Given the description of an element on the screen output the (x, y) to click on. 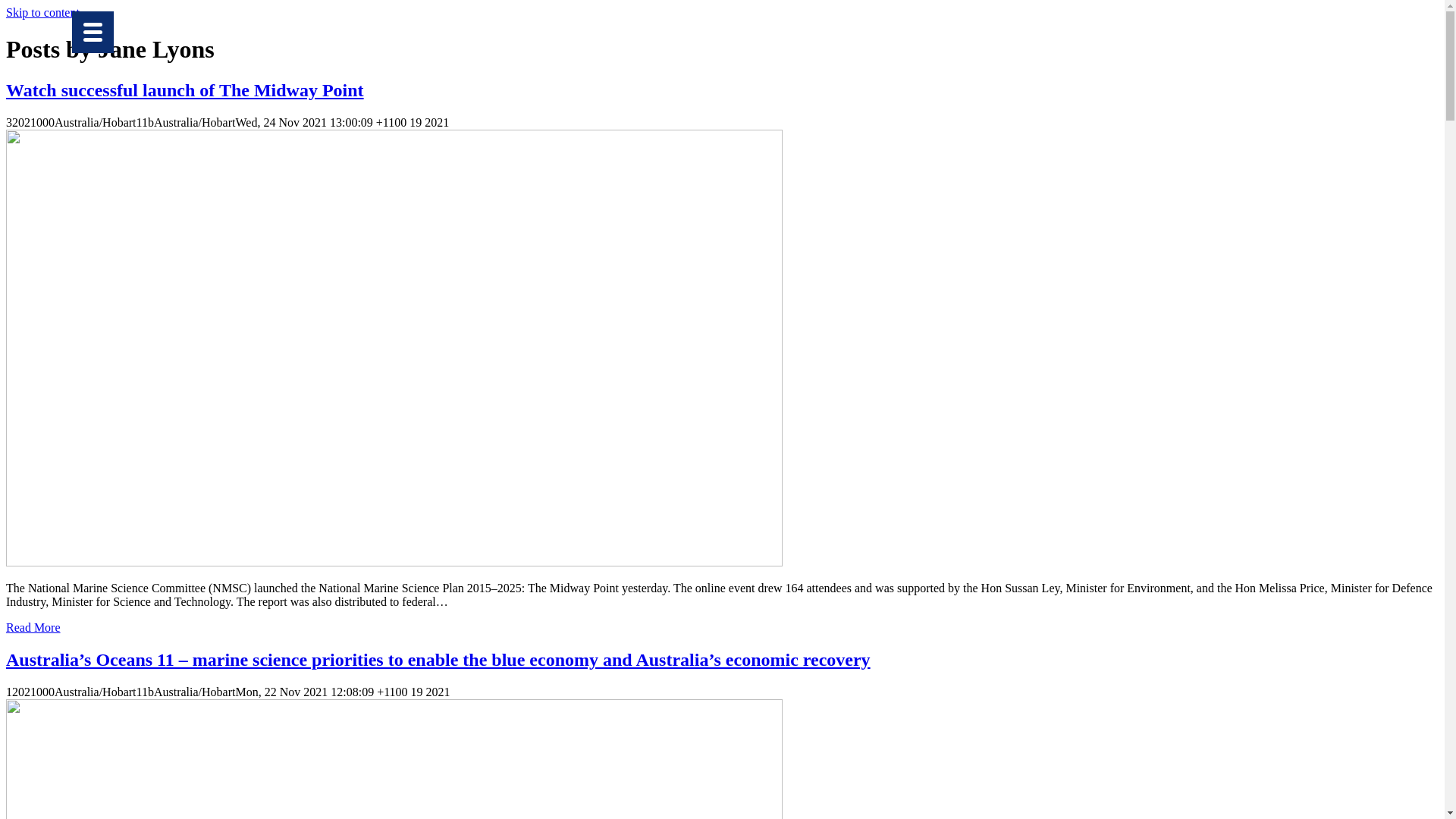
Read More Element type: text (33, 627)
Watch successful launch of The Midway Point Element type: text (185, 90)
Skip to content Element type: text (42, 12)
Watch successful launch of The Midway Point Element type: hover (394, 561)
